Given the description of an element on the screen output the (x, y) to click on. 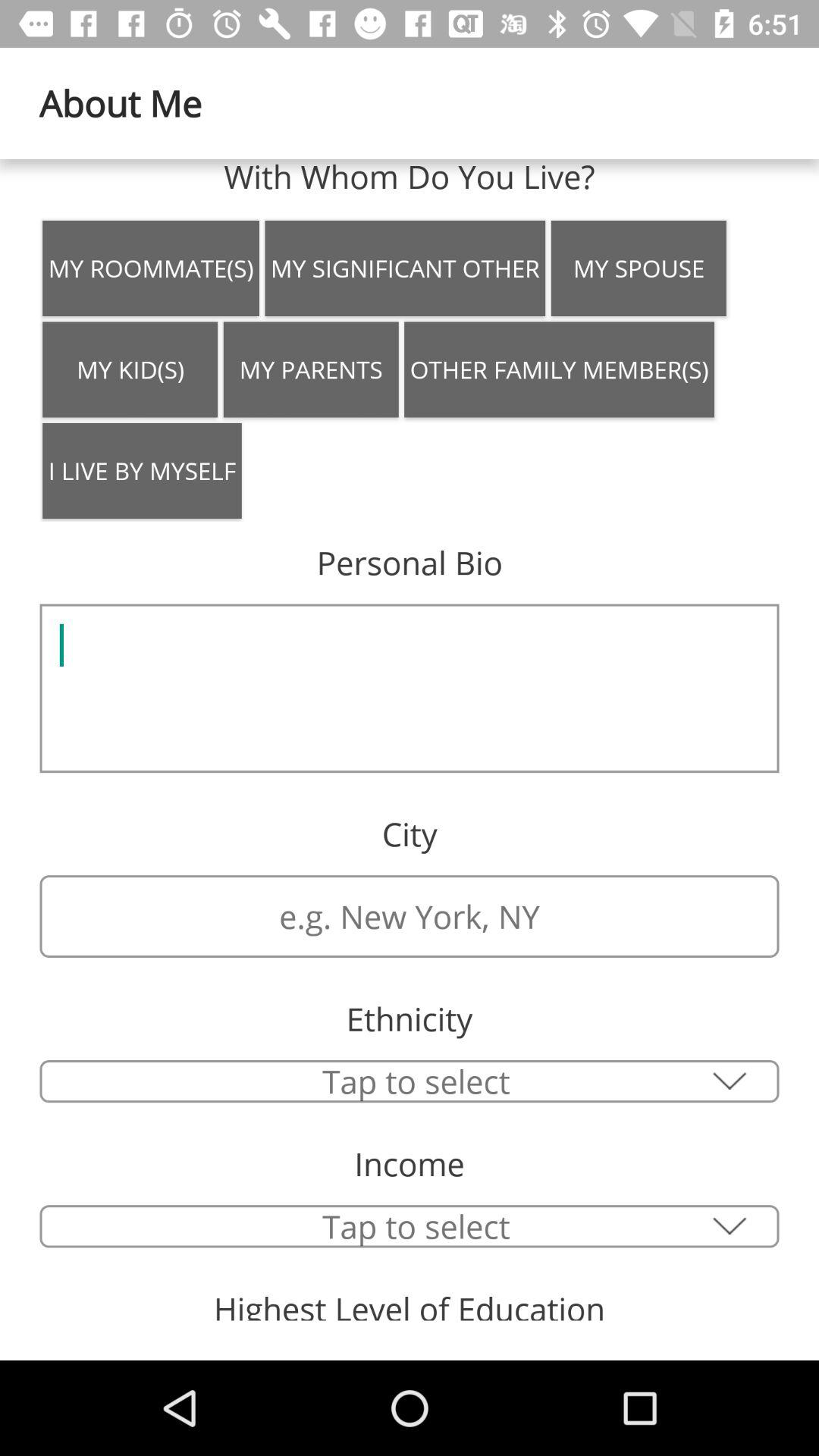
press the item next to the my significant other (638, 268)
